Given the description of an element on the screen output the (x, y) to click on. 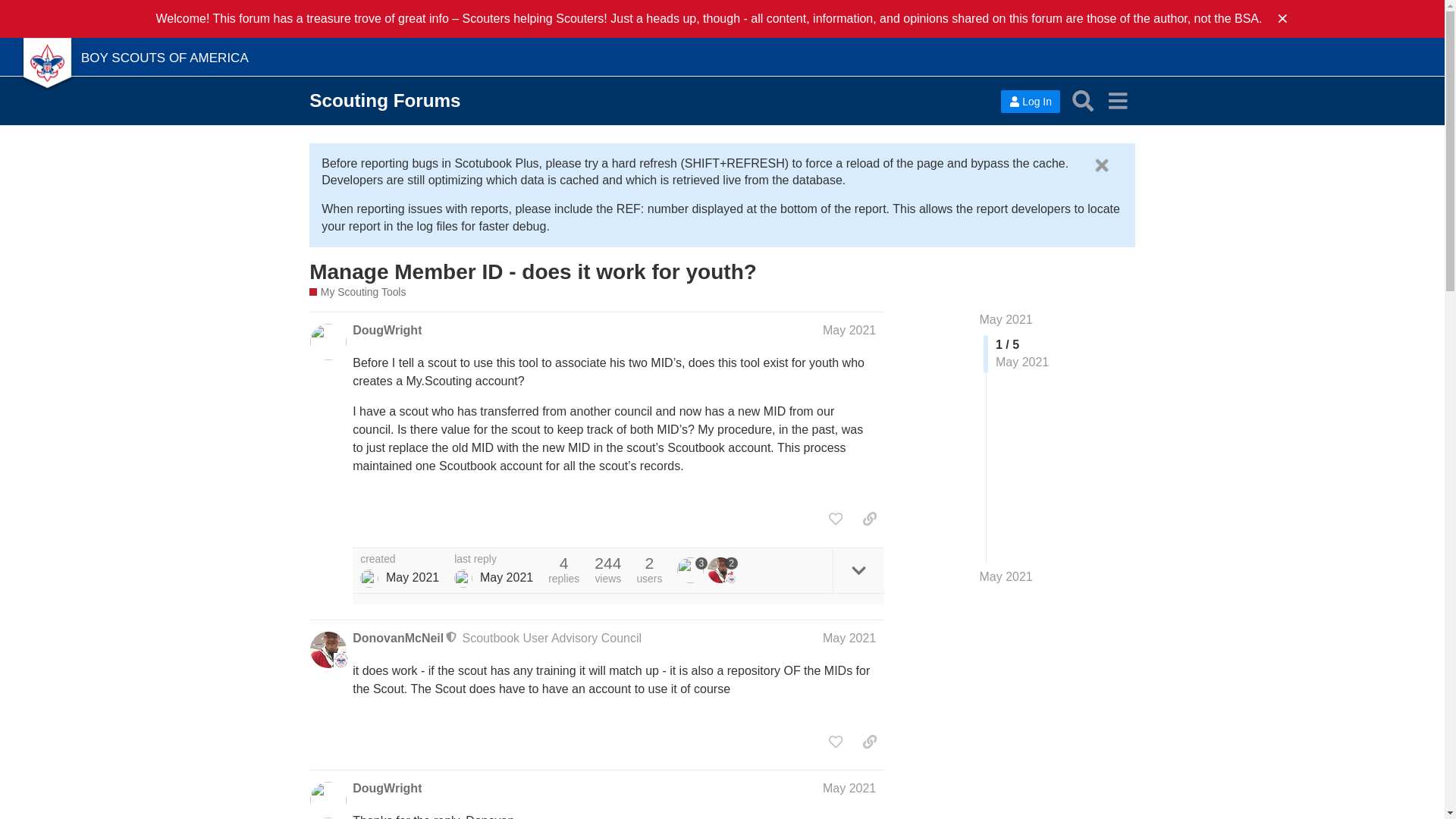
Scoutbook User Advisory Council (552, 637)
May 2021 (849, 329)
DougWright (387, 788)
May 13, 2021 10:28 pm (412, 576)
Dismiss this banner (1101, 165)
Jump to the first post (1005, 318)
May 2021 (1005, 318)
Post date (849, 329)
like this post (835, 518)
DougWright (387, 330)
Doug Wright (462, 578)
expand topic details (857, 569)
2 (722, 570)
My Scouting Tools (357, 292)
Log In (1030, 101)
